Given the description of an element on the screen output the (x, y) to click on. 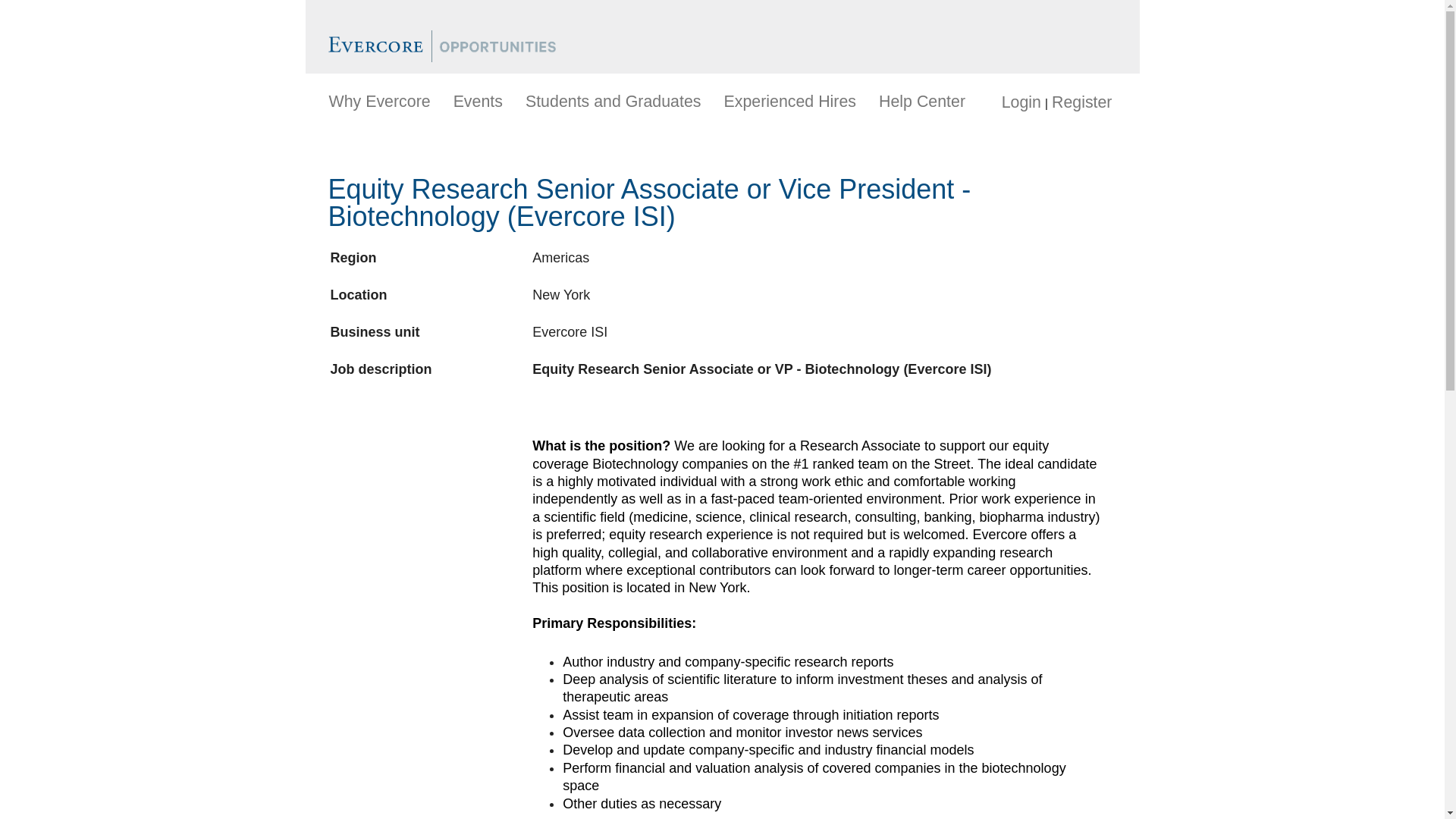
Students and Graduates (613, 101)
Why Evercore (379, 101)
Experienced Hires (790, 101)
Events (477, 101)
Help Center (921, 101)
Login (1021, 102)
Register (1081, 102)
